Given the description of an element on the screen output the (x, y) to click on. 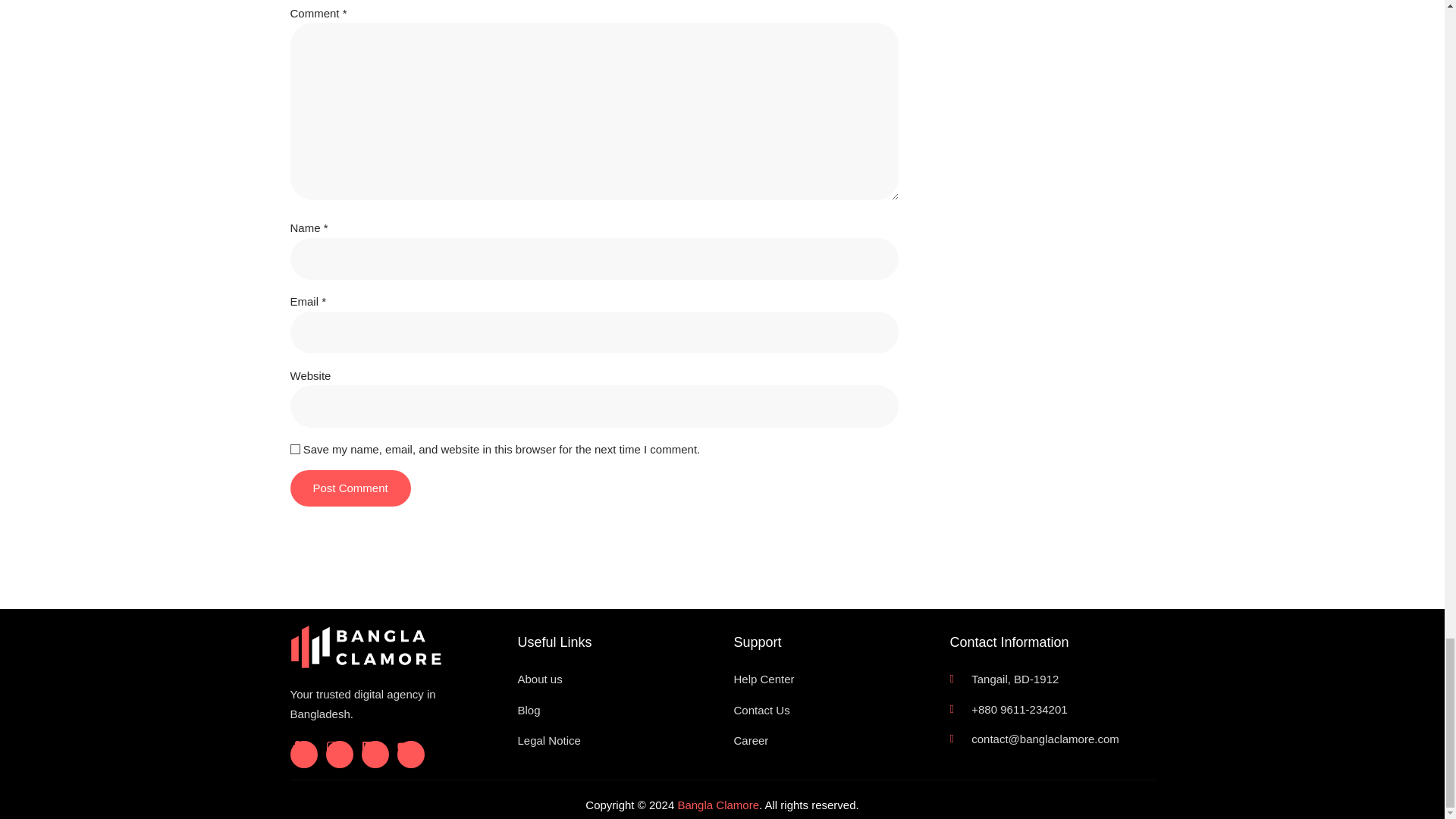
About us (603, 679)
Blog (603, 710)
Post Comment (349, 488)
Contact Us (820, 710)
Help Center (820, 679)
Legal Notice (603, 741)
Post Comment (349, 488)
